Given the description of an element on the screen output the (x, y) to click on. 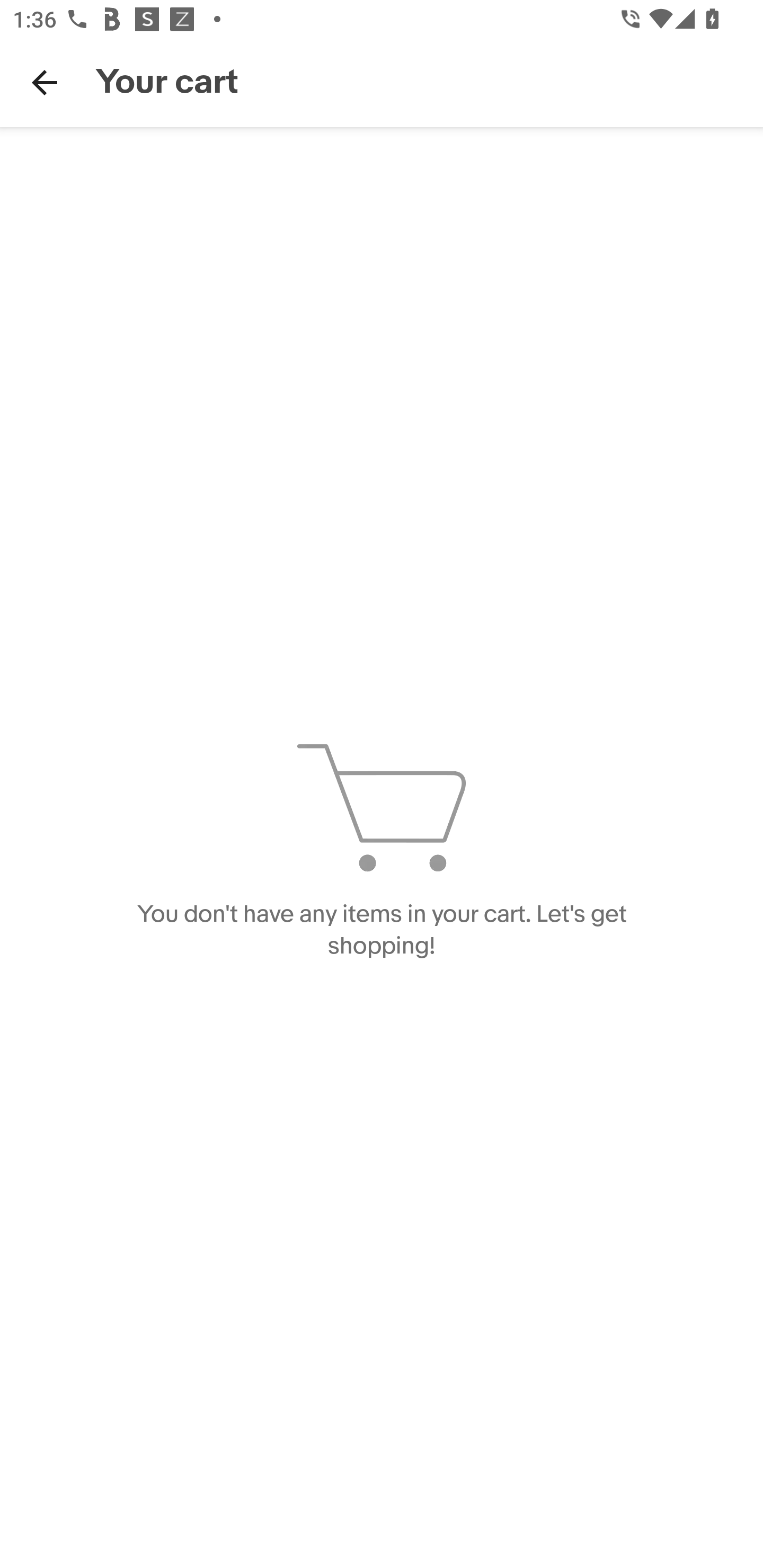
Navigate up (44, 82)
